Given the description of an element on the screen output the (x, y) to click on. 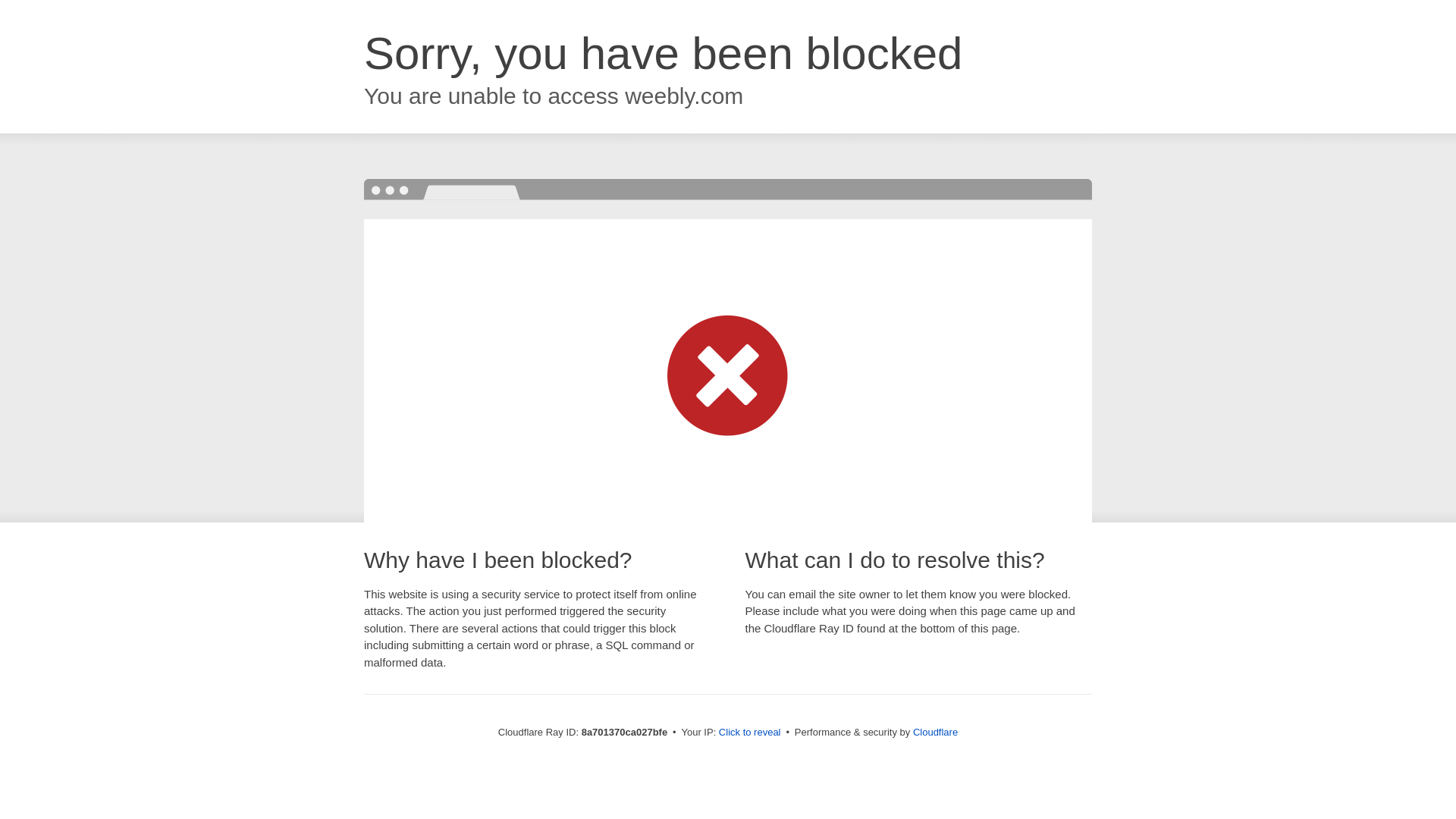
Click to reveal (749, 732)
Cloudflare (935, 731)
